Given the description of an element on the screen output the (x, y) to click on. 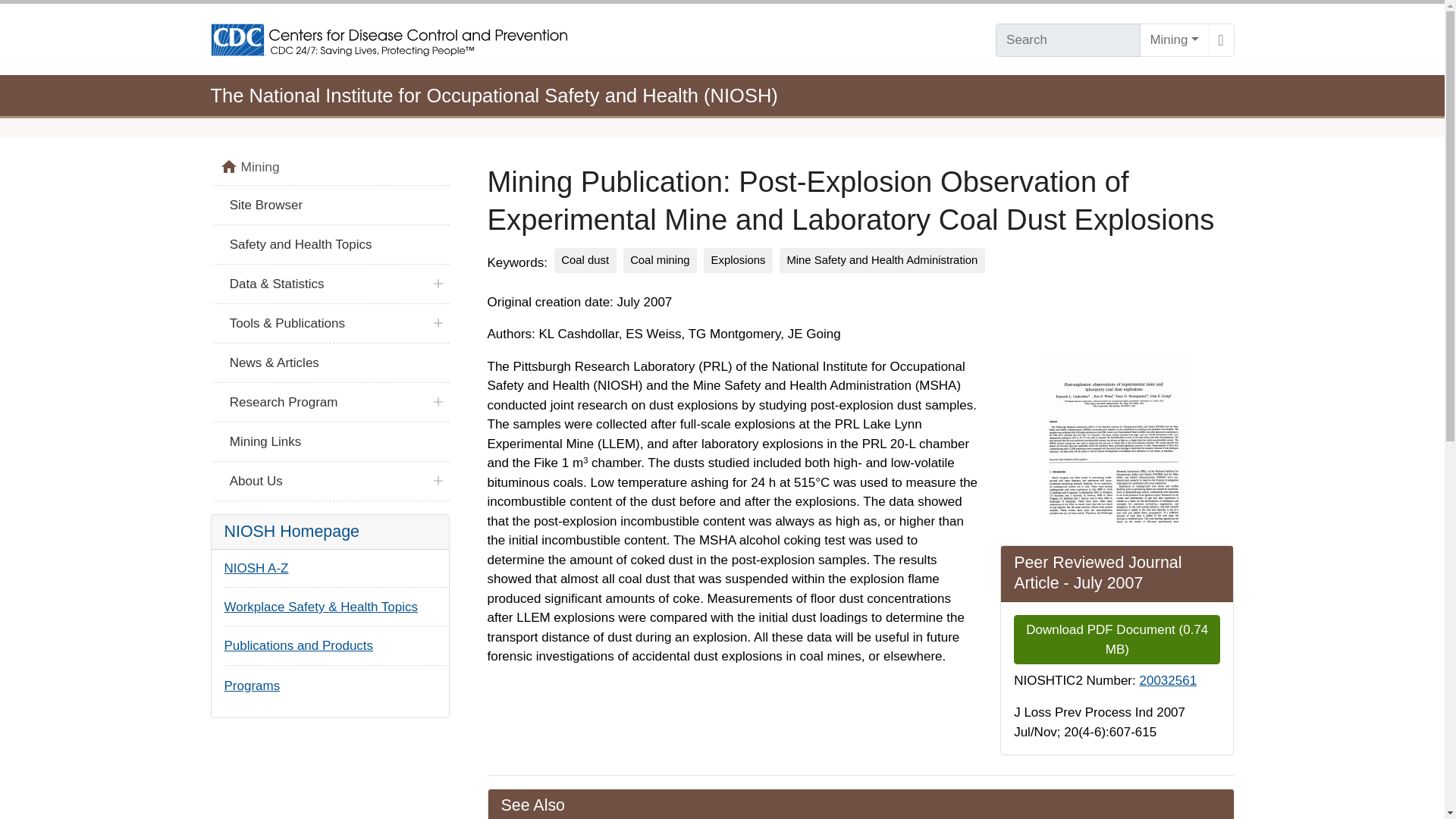
Coal dust (584, 260)
Mining (1174, 40)
expand (437, 401)
Mine Safety and Health Administration (881, 260)
expand (437, 480)
expand (437, 283)
expand (437, 322)
Coal mining (660, 260)
20032561 (1167, 680)
